Given the description of an element on the screen output the (x, y) to click on. 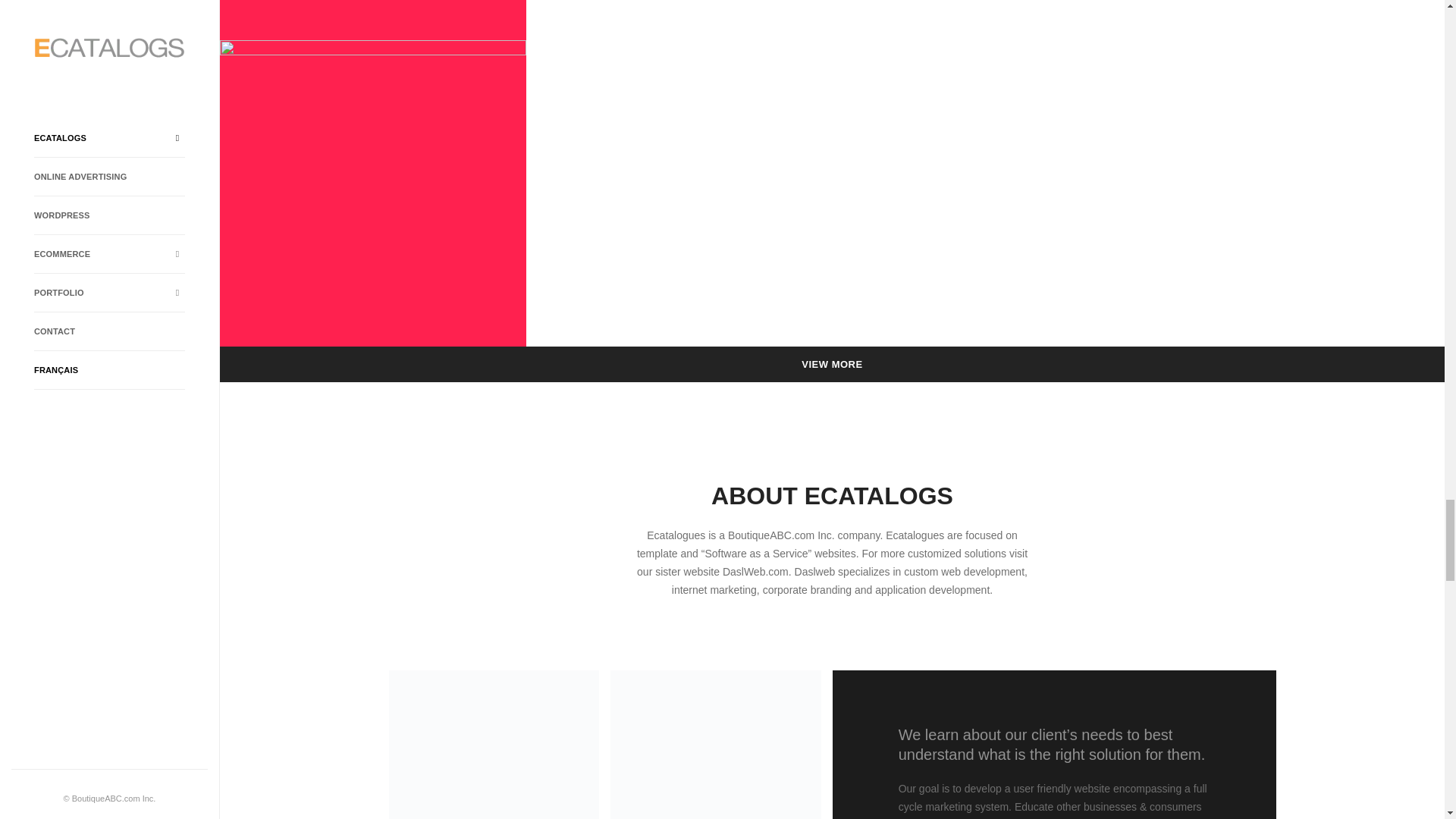
about-ecatalogues-1-min (493, 744)
about-ecatalogues-2-min (715, 744)
